Given the description of an element on the screen output the (x, y) to click on. 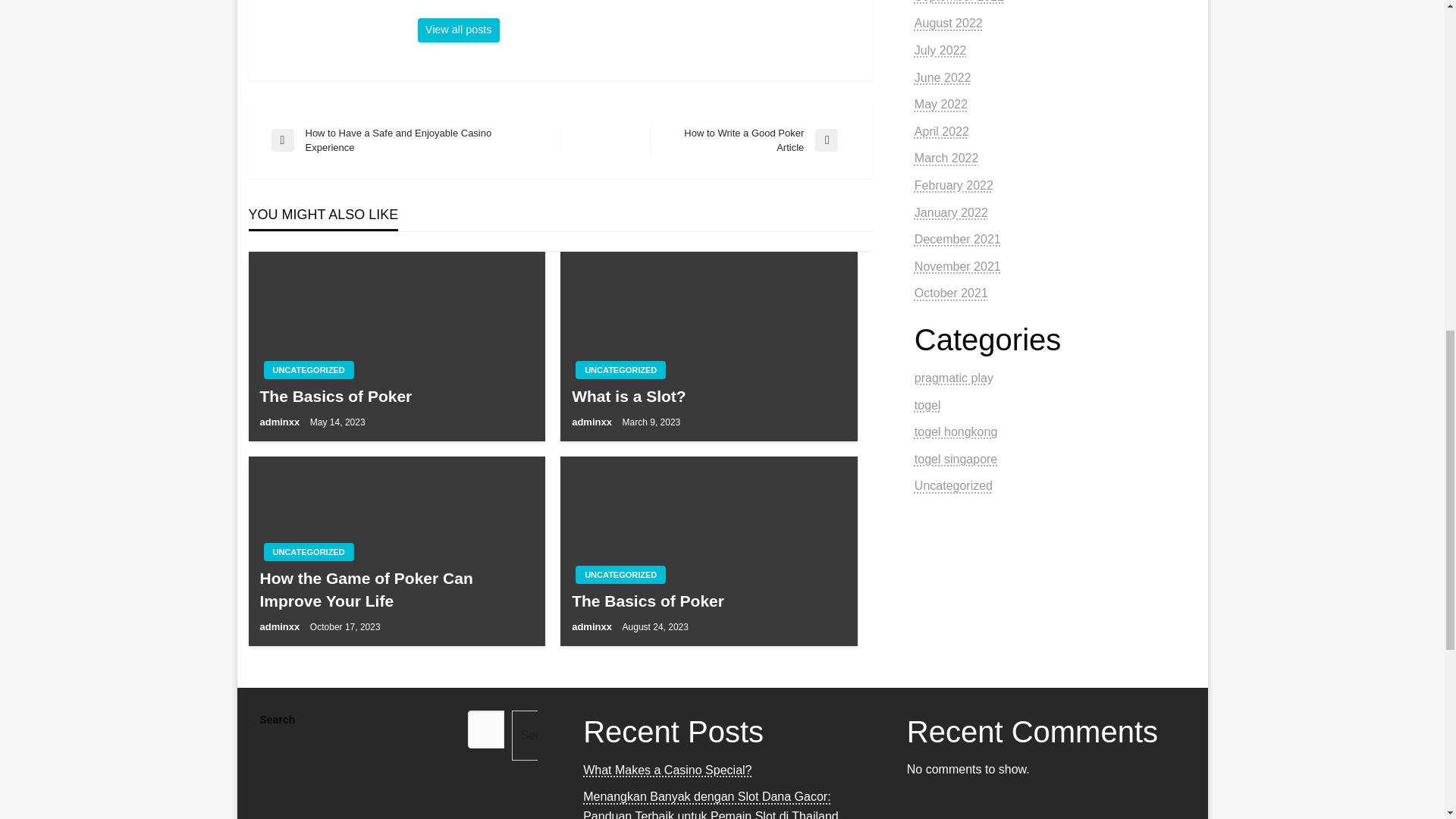
adminxx (593, 421)
adminxx (280, 421)
adminxx (458, 30)
UNCATEGORIZED (750, 140)
What is a Slot? (620, 370)
UNCATEGORIZED (708, 395)
View all posts (308, 551)
UNCATEGORIZED (458, 30)
adminxx (620, 574)
UNCATEGORIZED (280, 626)
How the Game of Poker Can Improve Your Life (308, 370)
adminxx (396, 589)
The Basics of Poker (593, 626)
